Given the description of an element on the screen output the (x, y) to click on. 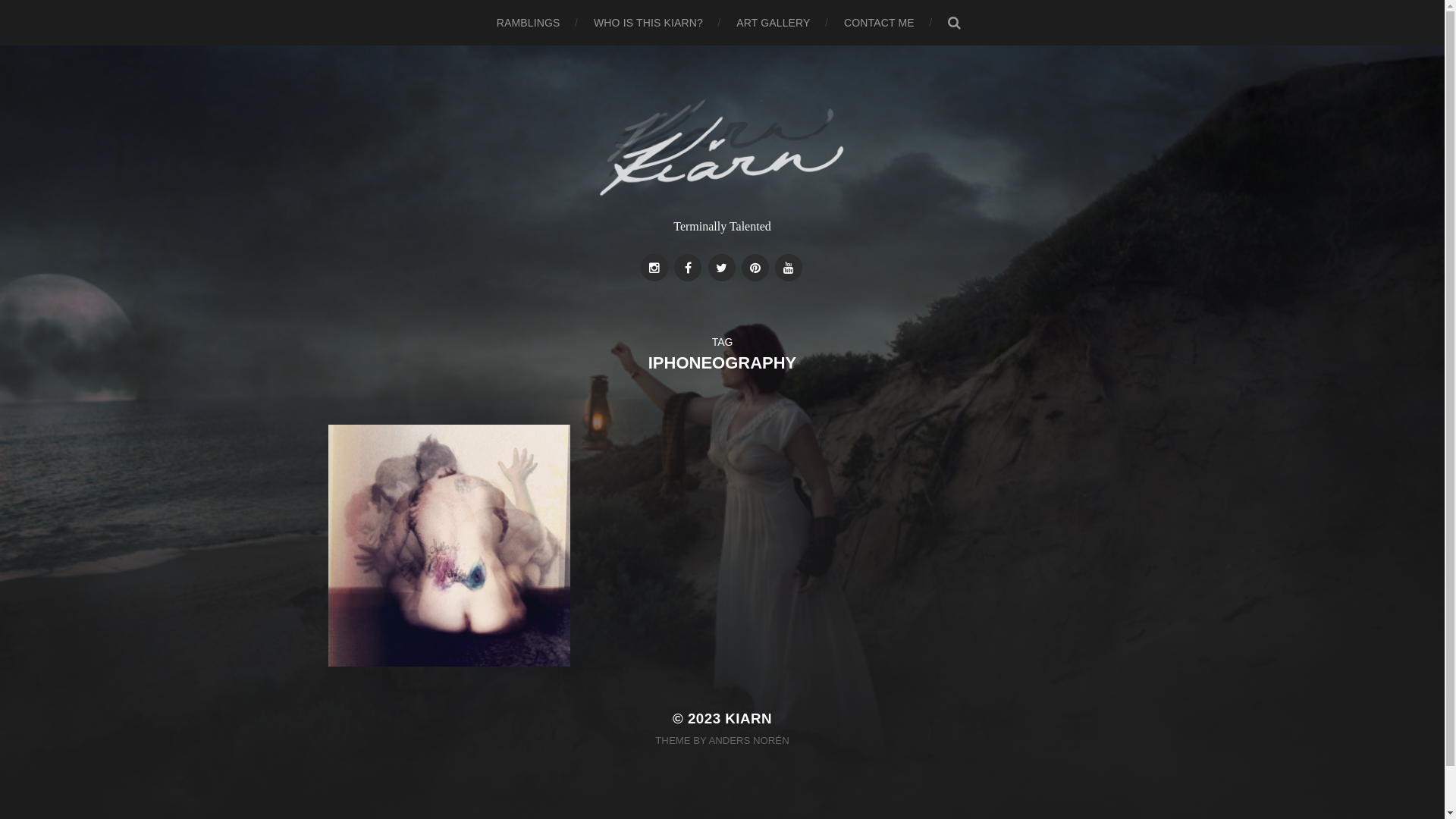
WHO IS THIS KIARN? Element type: text (647, 22)
KIARN Element type: text (747, 718)
RAMBLINGS Element type: text (528, 22)
Kiarn Element type: hover (722, 148)
CONTACT ME Element type: text (879, 22)
ART GALLERY Element type: text (772, 22)
